Given the description of an element on the screen output the (x, y) to click on. 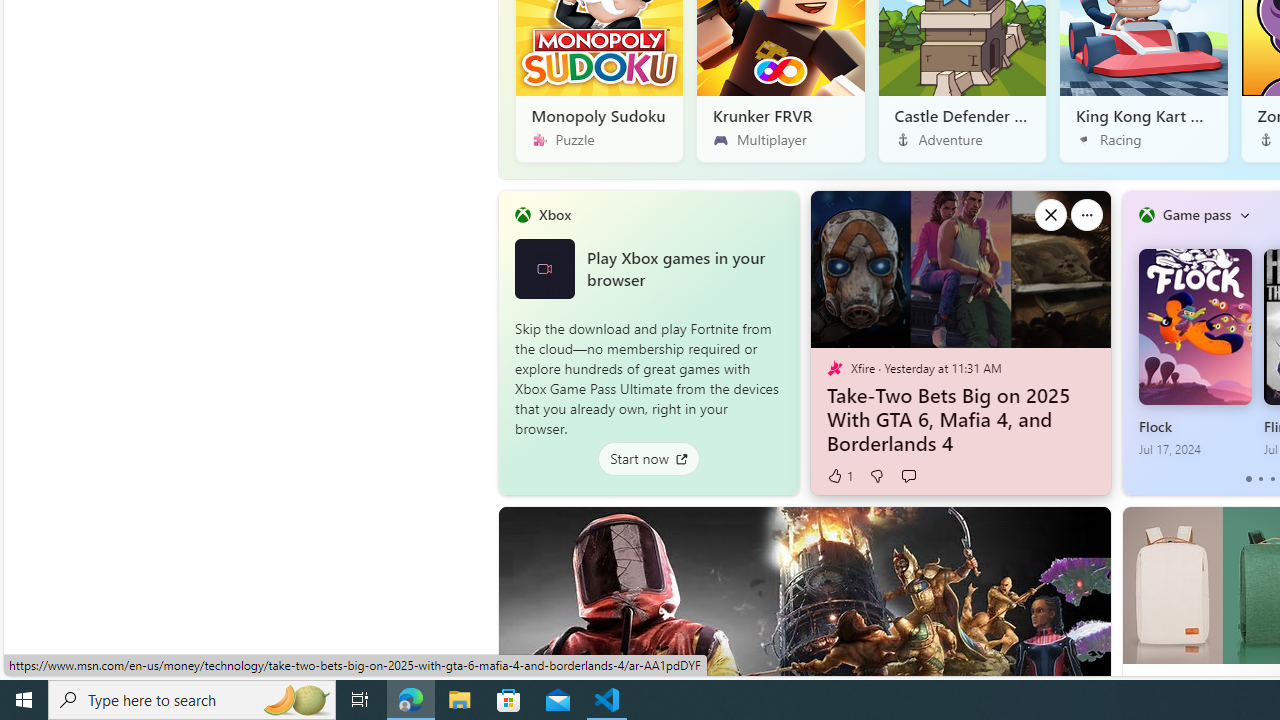
Select Category (1243, 214)
1 Like (839, 475)
Hide this story (1050, 530)
tab-1 (1260, 479)
Class: previous-flipper (1131, 342)
